Given the description of an element on the screen output the (x, y) to click on. 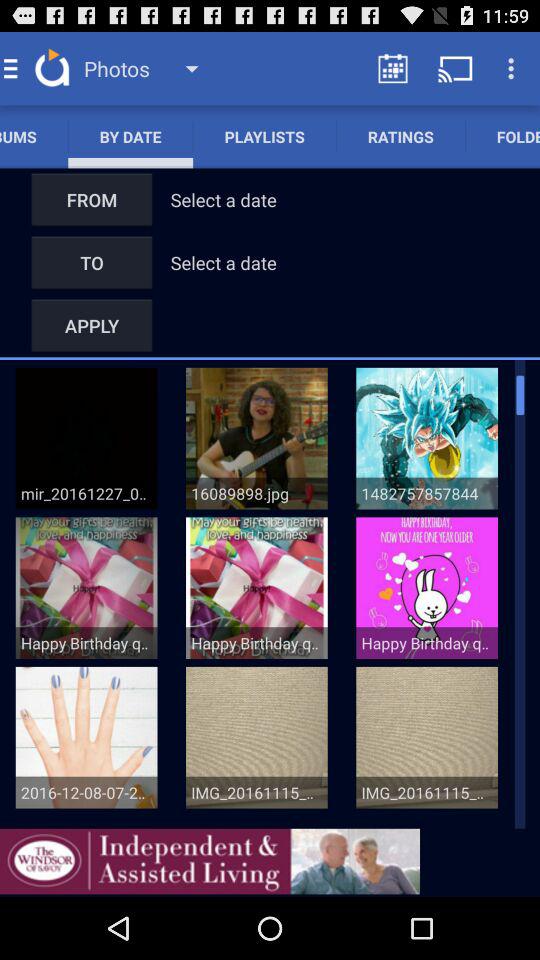
go to advertisement website (210, 861)
